Given the description of an element on the screen output the (x, y) to click on. 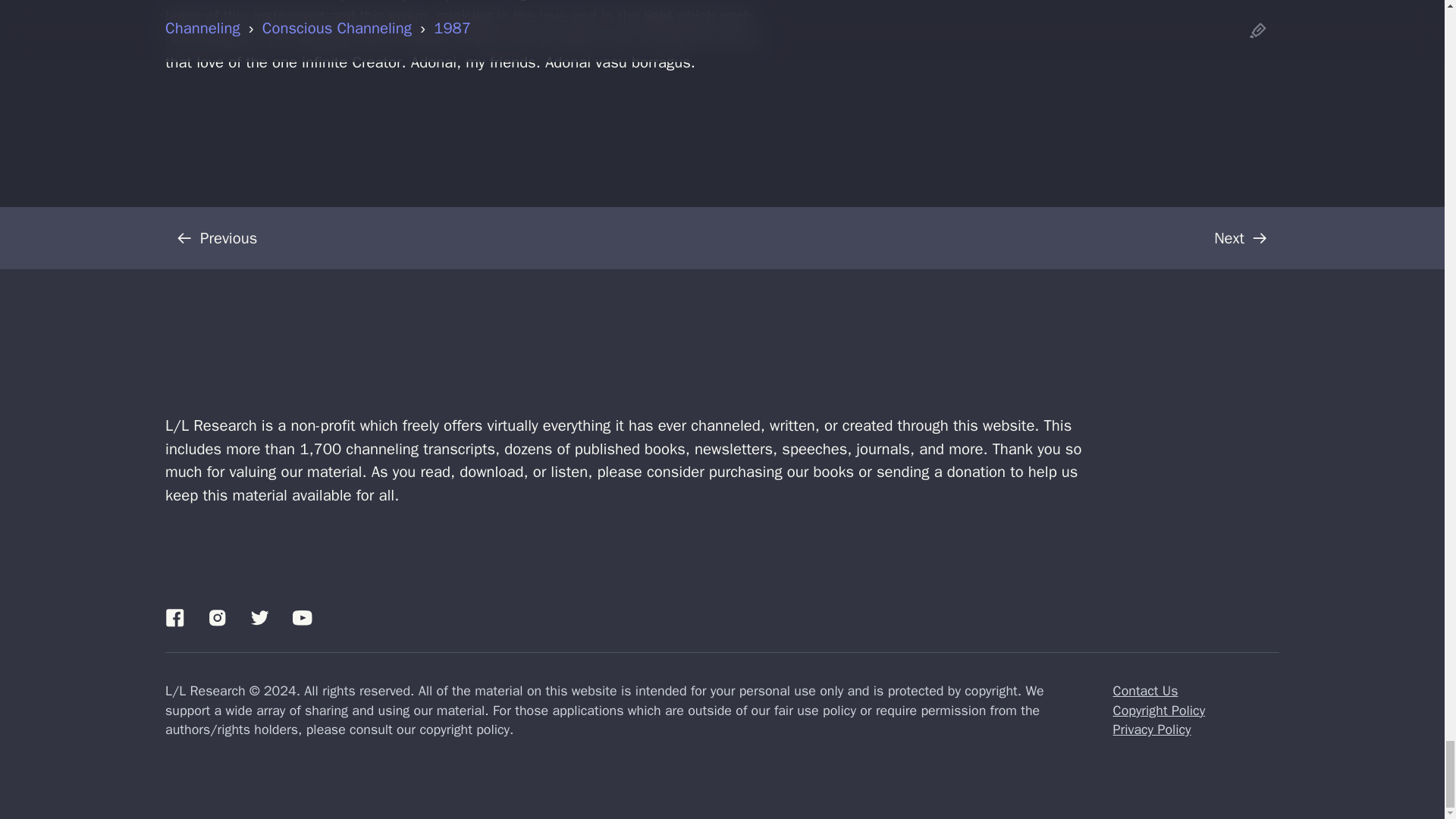
Instagram (217, 617)
Facebook (174, 617)
Twitter (259, 617)
YouTube (301, 617)
